Given the description of an element on the screen output the (x, y) to click on. 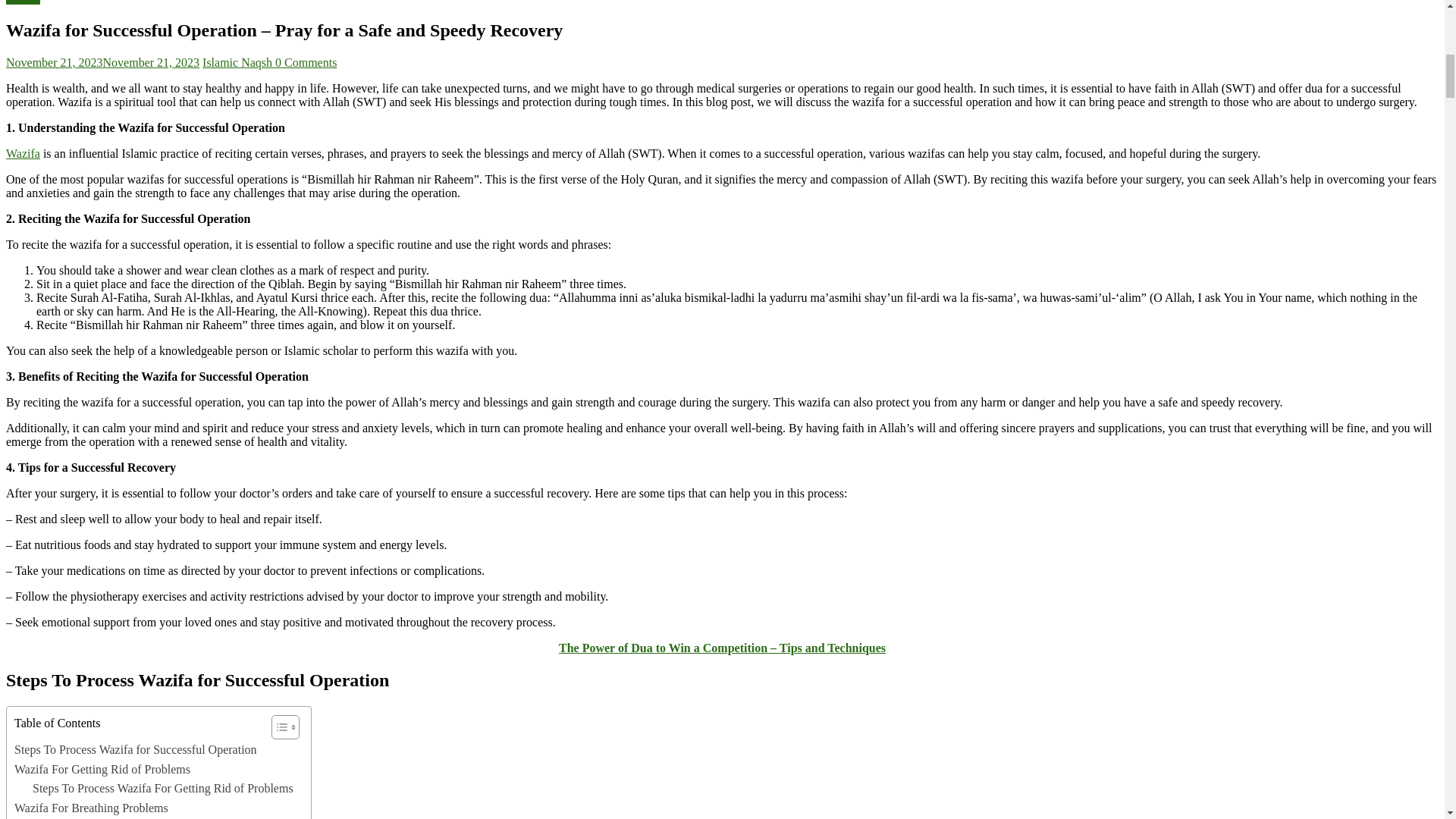
0 Comments (305, 62)
Wazifa For Getting Rid of Problems (102, 769)
Steps To Process Wazifa For Getting Rid of Problems (163, 788)
Wazifa (22, 153)
Wazifa For Getting Rid of Problems (102, 769)
Islamic Naqsh (238, 62)
Wazifa (22, 2)
Wazifa For Breathing Problems (91, 808)
Islamic Naqsh (238, 62)
November 21, 2023November 21, 2023 (102, 62)
6:34 am (102, 62)
Steps To Process Wazifa for Successful Operation (135, 750)
Steps To Process Wazifa for Successful Operation (135, 750)
